Given the description of an element on the screen output the (x, y) to click on. 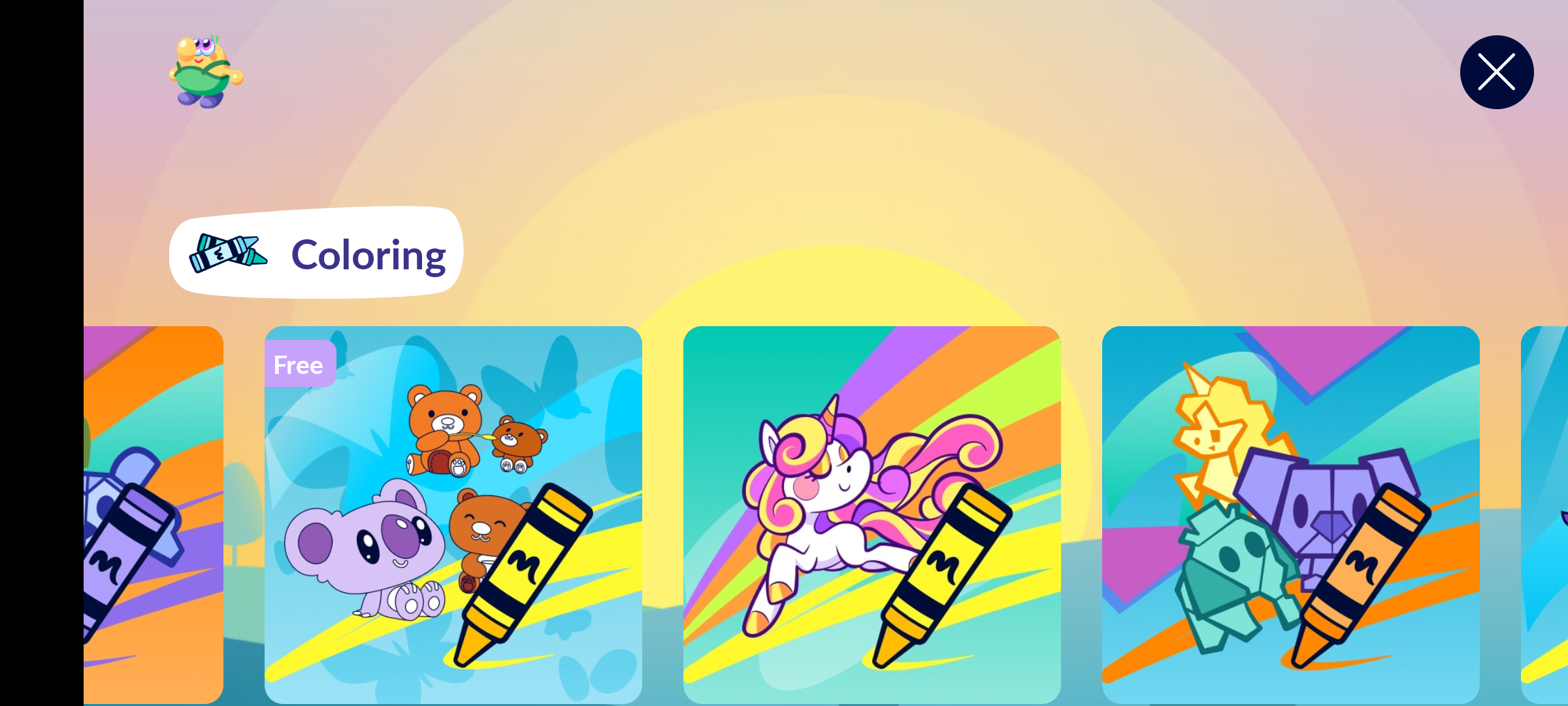
Profile icon (205, 71)
Featured Content Free (453, 514)
Featured Content (872, 514)
Featured Content (1291, 514)
